Given the description of an element on the screen output the (x, y) to click on. 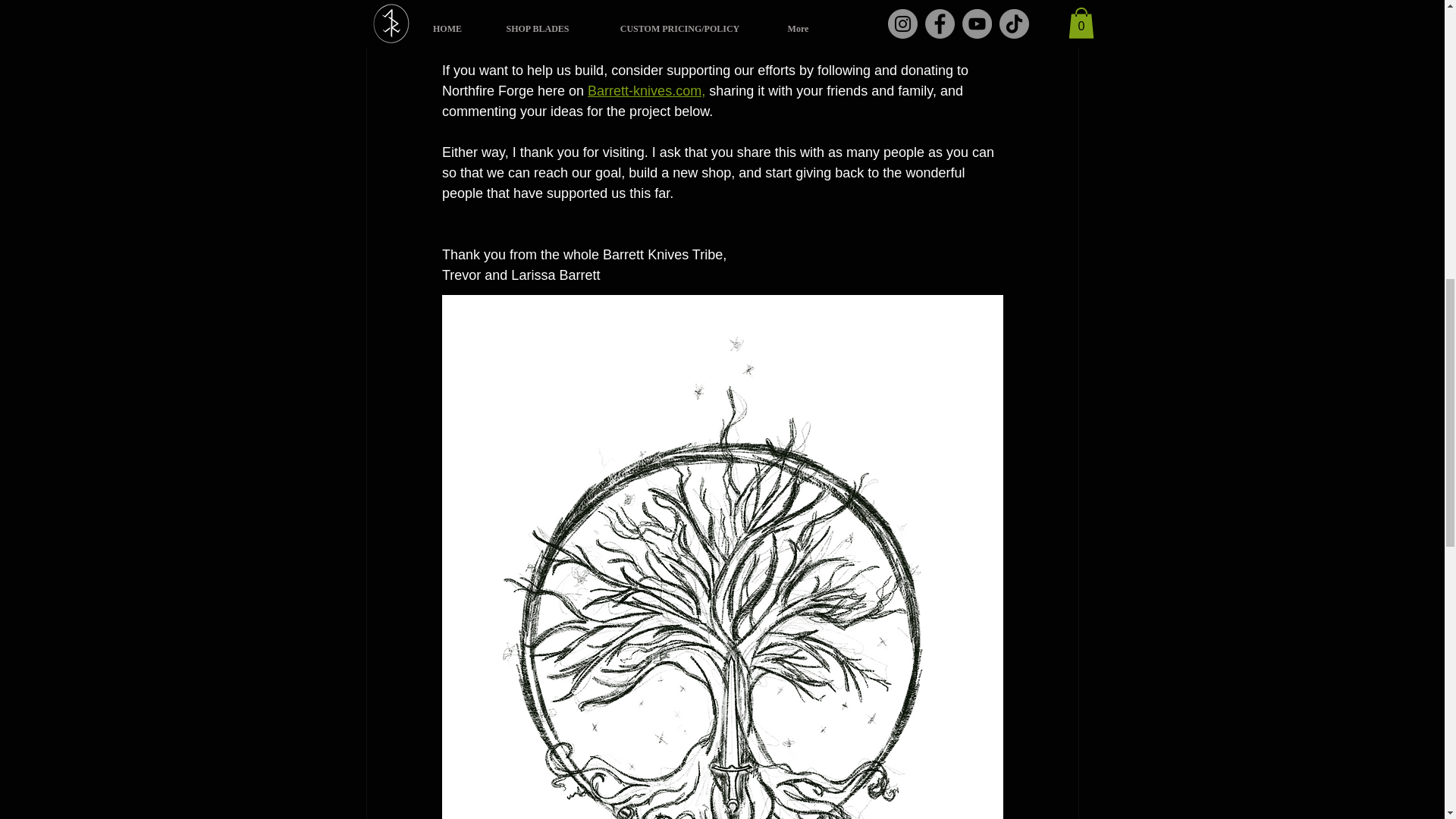
Barrett-knives.com, (646, 90)
